Given the description of an element on the screen output the (x, y) to click on. 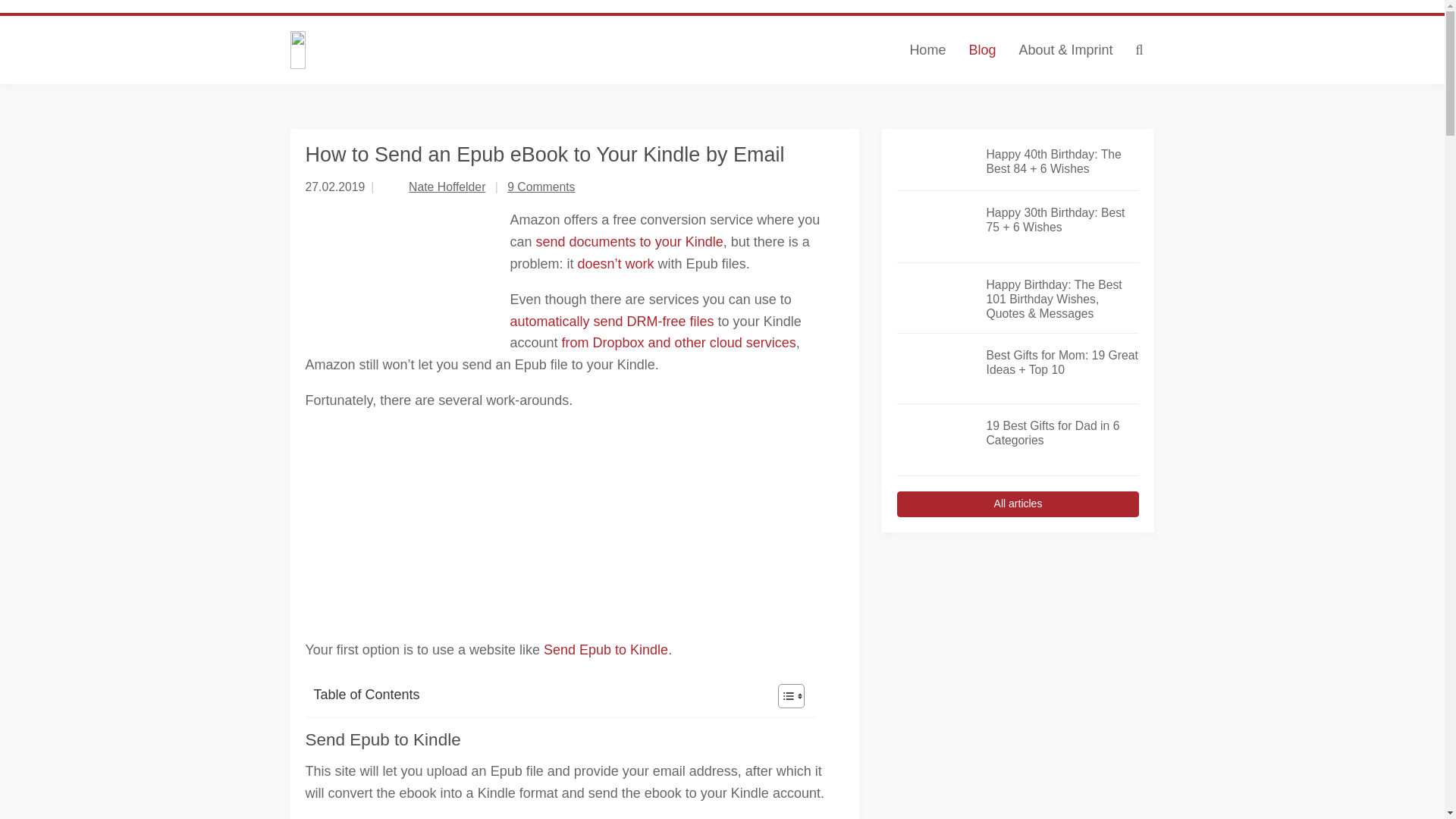
The Digital Reader (437, 49)
automatically send DRM-free files (611, 321)
send documents to your Kindle (629, 241)
Blog (981, 49)
Home (927, 49)
Send Epub to Kindle (605, 649)
from Dropbox and other cloud services (679, 342)
9 Comments (540, 186)
Nate Hoffelder (446, 186)
